Given the description of an element on the screen output the (x, y) to click on. 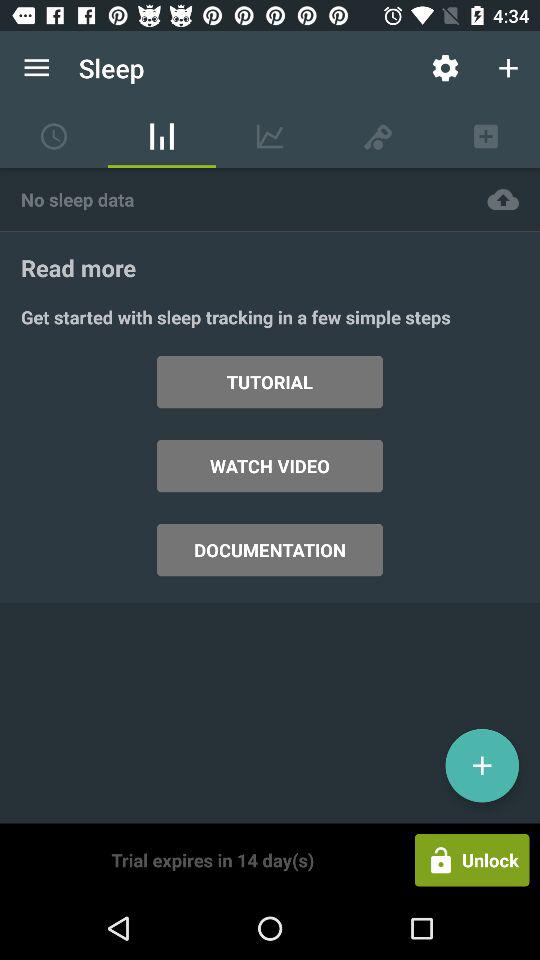
select the item above the trial expires in icon (269, 549)
